Given the description of an element on the screen output the (x, y) to click on. 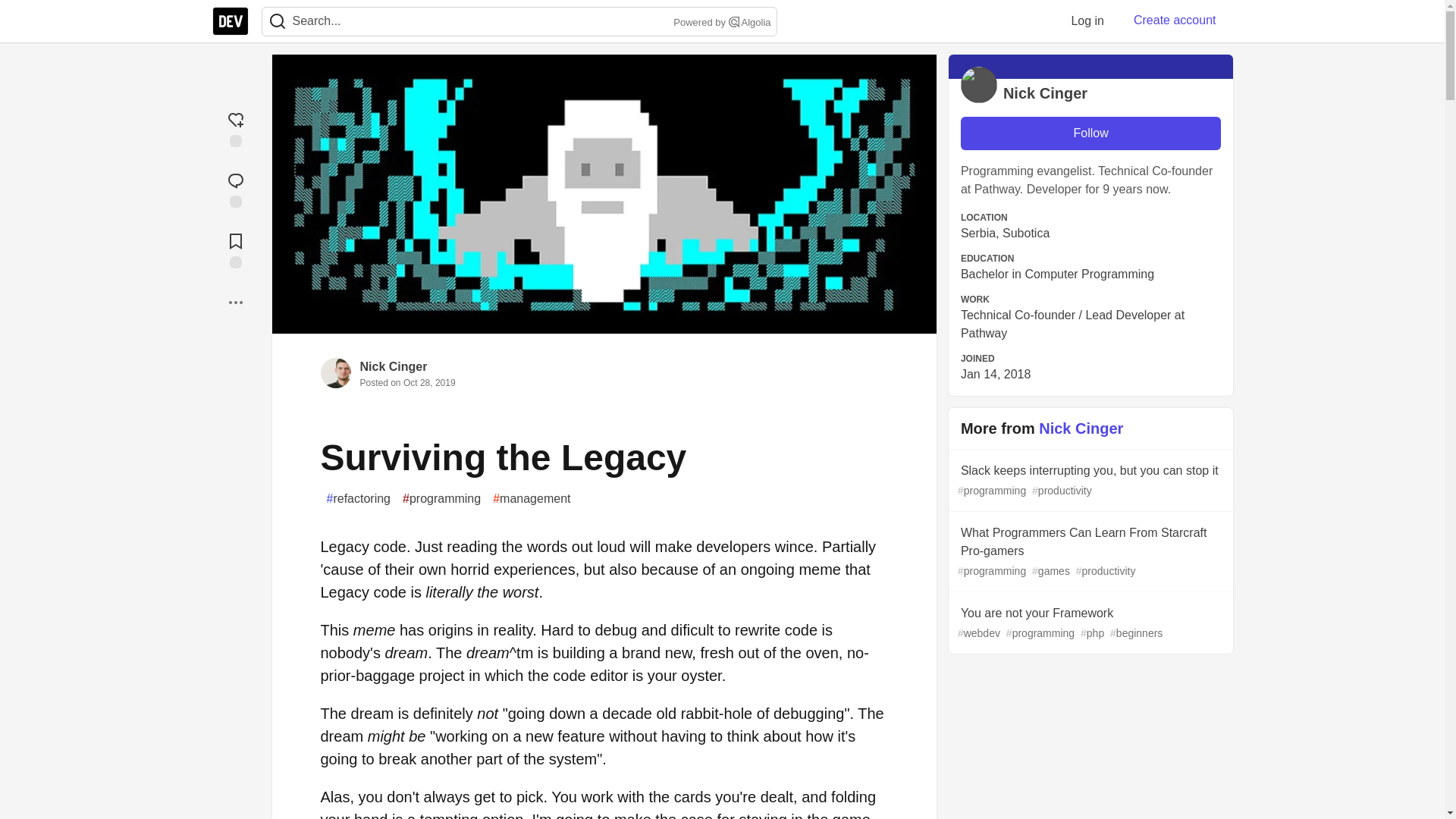
Create account (1174, 20)
More... (234, 302)
Nick Cinger (392, 366)
More... (234, 302)
Powered by Algolia (720, 22)
Log in (1087, 20)
Monday, October 28, 2019 at 4:20:46 PM (429, 382)
